Given the description of an element on the screen output the (x, y) to click on. 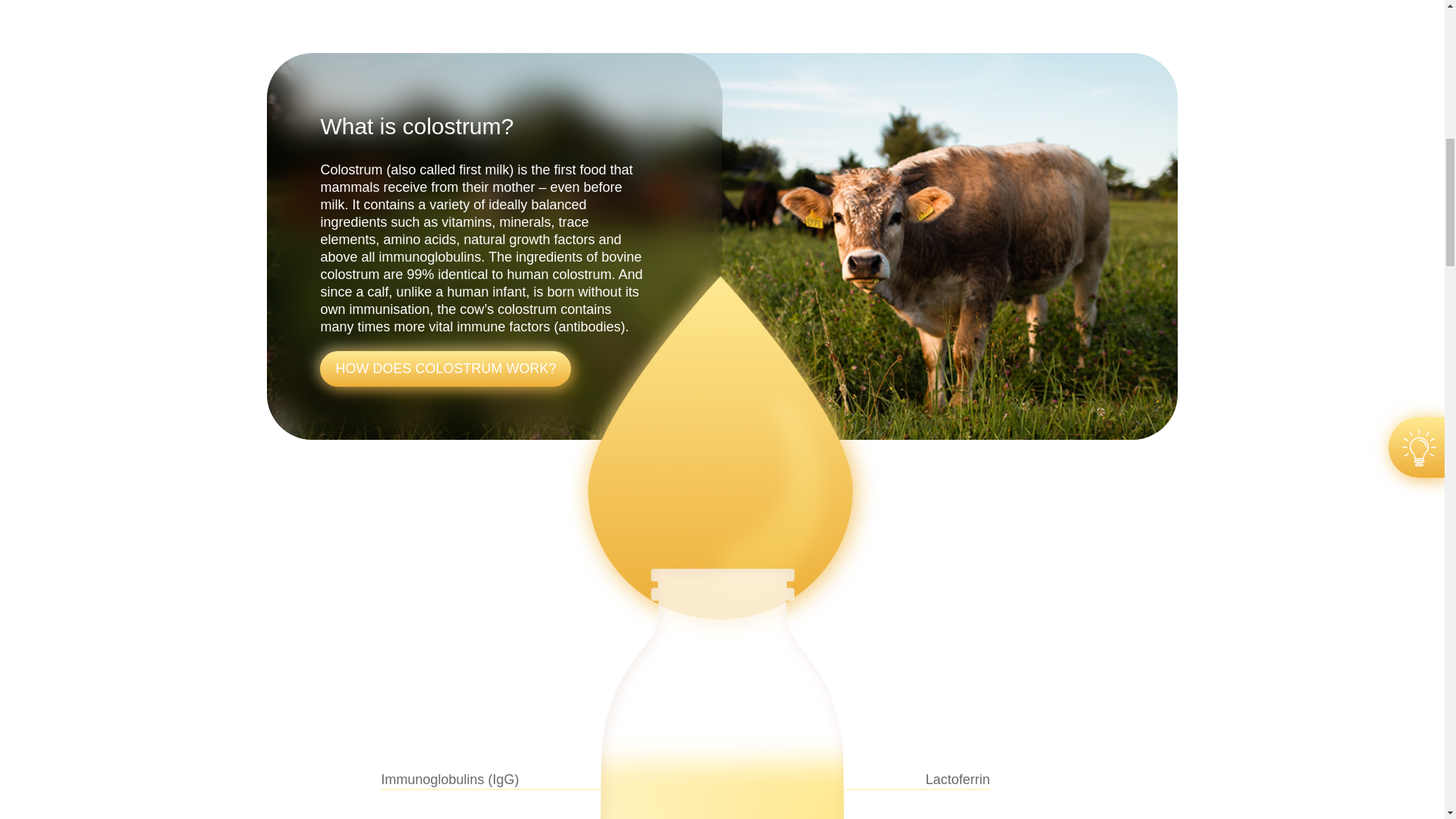
Lactoferrin (1018, 780)
HOW DOES COLOSTRUM WORK? (445, 368)
